Given the description of an element on the screen output the (x, y) to click on. 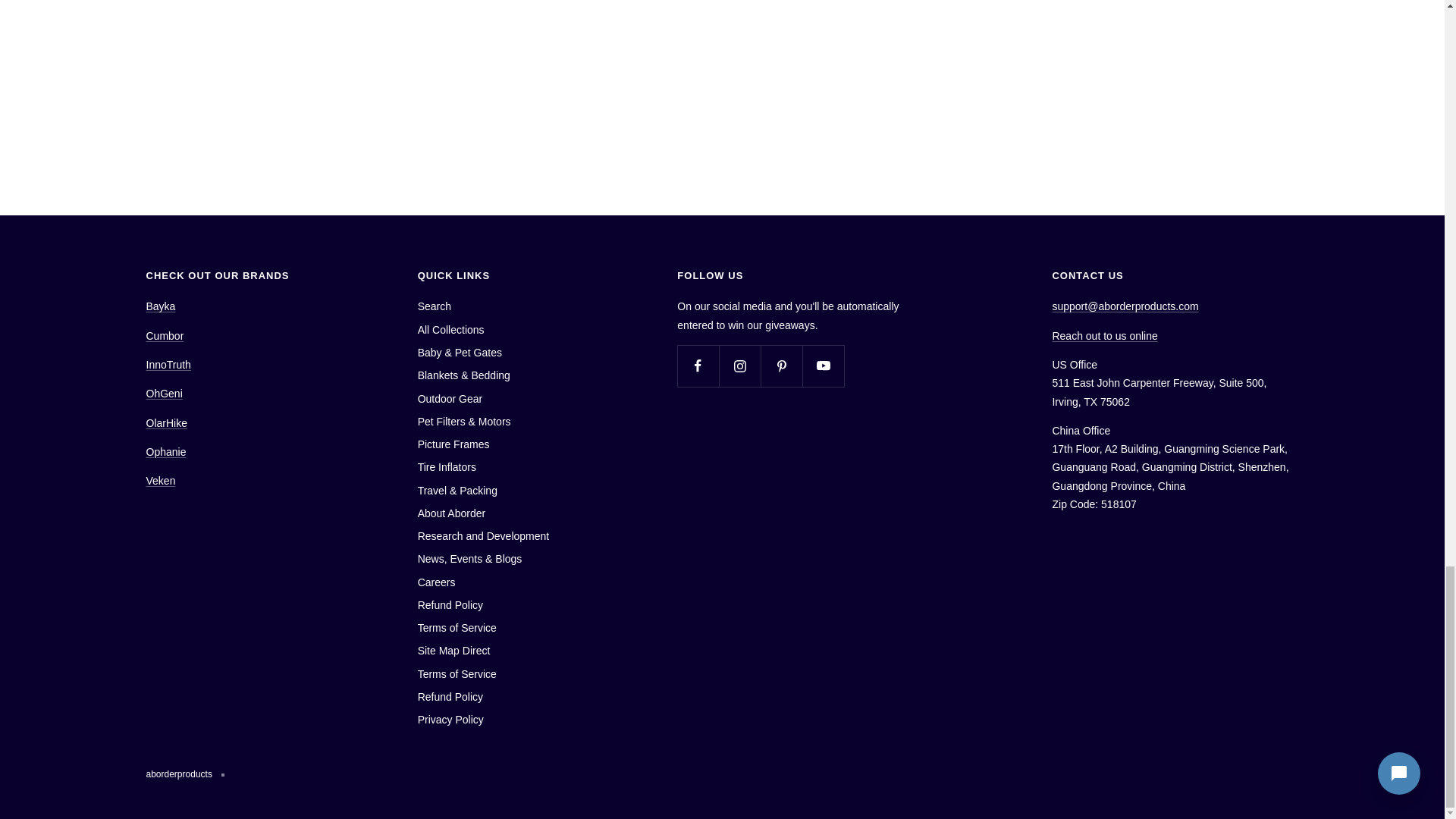
Ohgeni Aborder Products (163, 393)
InnoTruth (167, 364)
Olarhike Aborder Products (165, 422)
Ophanie Aborder Products (165, 451)
Veken Aborder Products (159, 480)
Contact (1104, 336)
Cumbor Aborder Products (164, 336)
Bayka Aborder Products (159, 306)
